Given the description of an element on the screen output the (x, y) to click on. 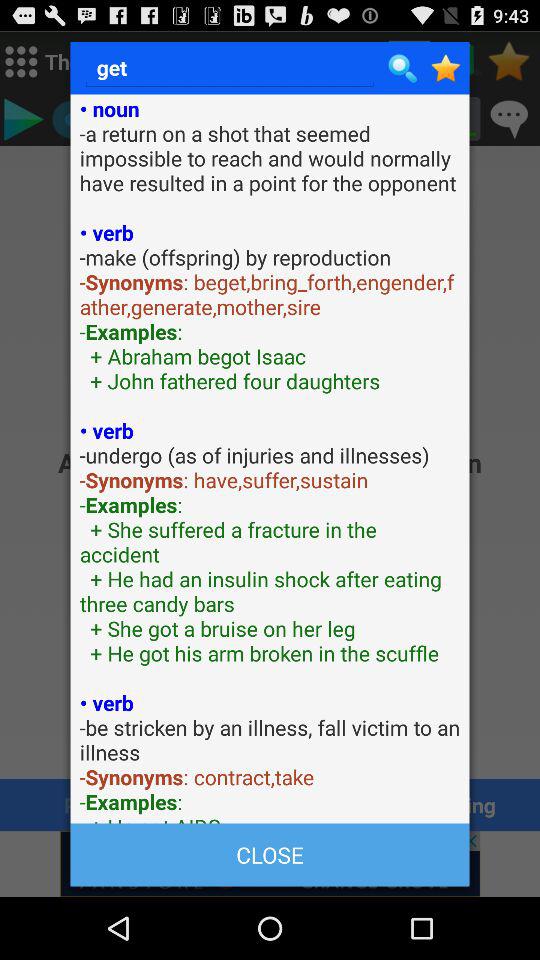
save this search (445, 67)
